Given the description of an element on the screen output the (x, y) to click on. 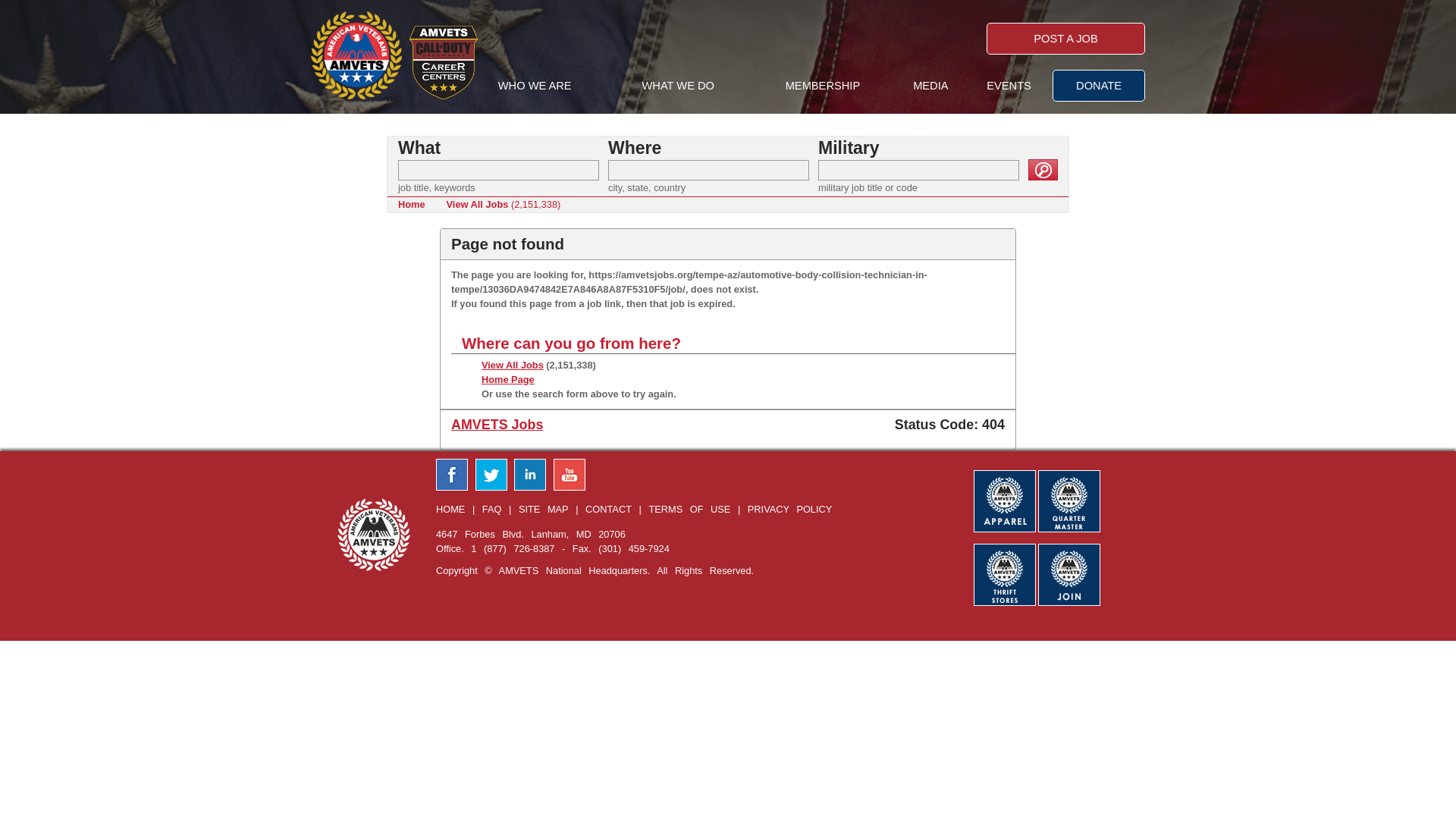
WHAT WE DO (678, 86)
Submit Search (1042, 169)
MEMBERSHIP (823, 86)
Search MOC (918, 169)
AMVETS Call of Duty Endowment Career Centers (443, 62)
search (1042, 169)
Search Phrase (497, 169)
POST A JOB (1065, 38)
Search Location (708, 169)
AMVETS National Headquarters (356, 55)
MEDIA (929, 86)
WHO WE ARE (534, 86)
